Given the description of an element on the screen output the (x, y) to click on. 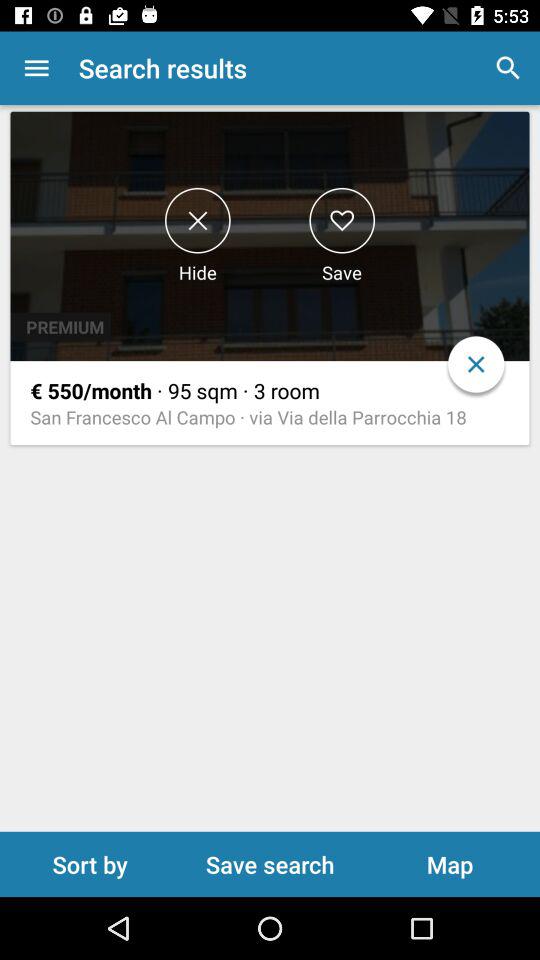
choose icon to the right of the sort by item (270, 863)
